Given the description of an element on the screen output the (x, y) to click on. 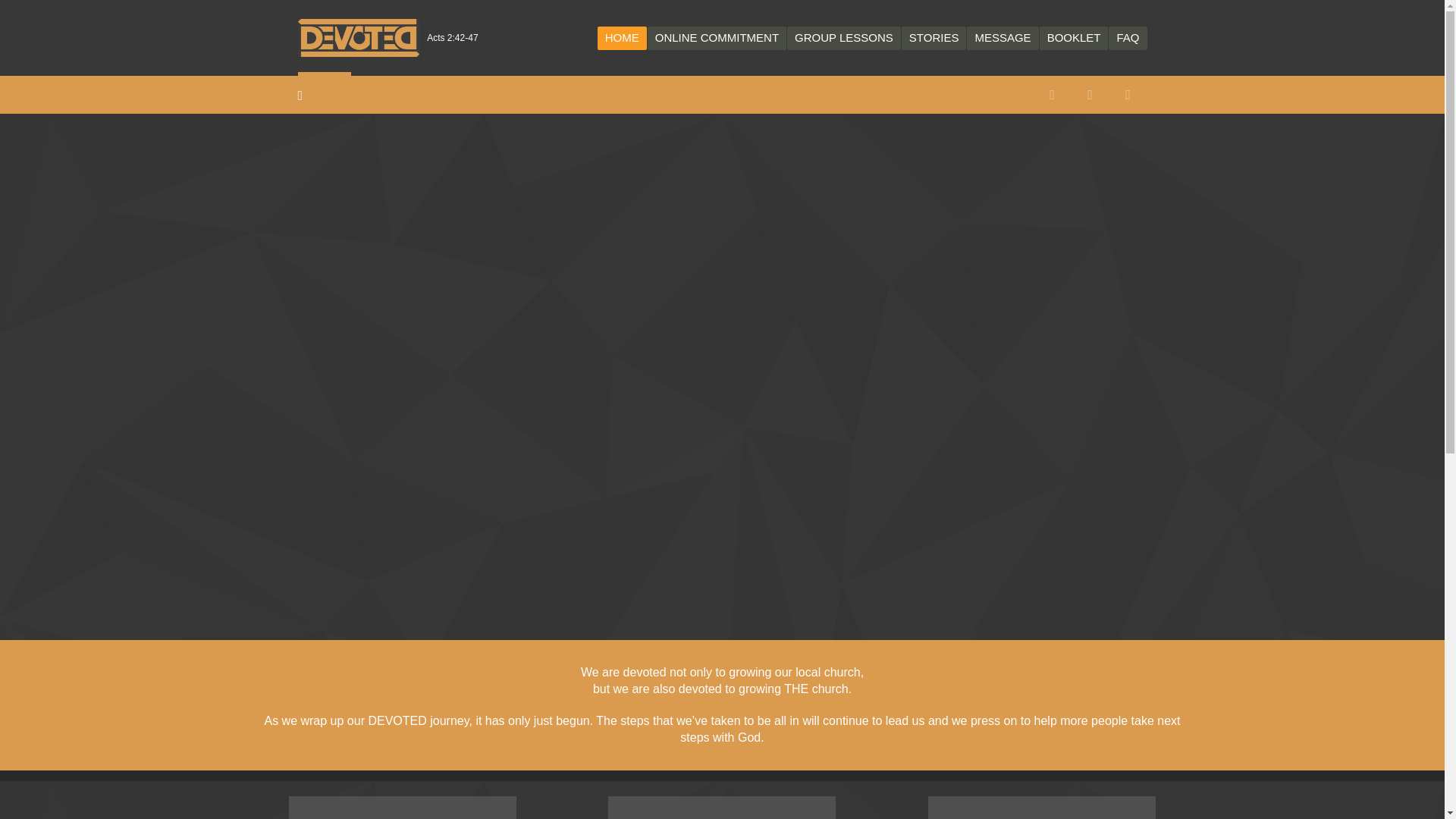
MESSAGE (1002, 37)
BOOKLET (1073, 37)
ONLINE COMMITMENT (716, 37)
GROUP LESSONS (844, 37)
STORIES (933, 37)
242Devoted (358, 37)
FAQ (1127, 37)
HOME (621, 37)
